Given the description of an element on the screen output the (x, y) to click on. 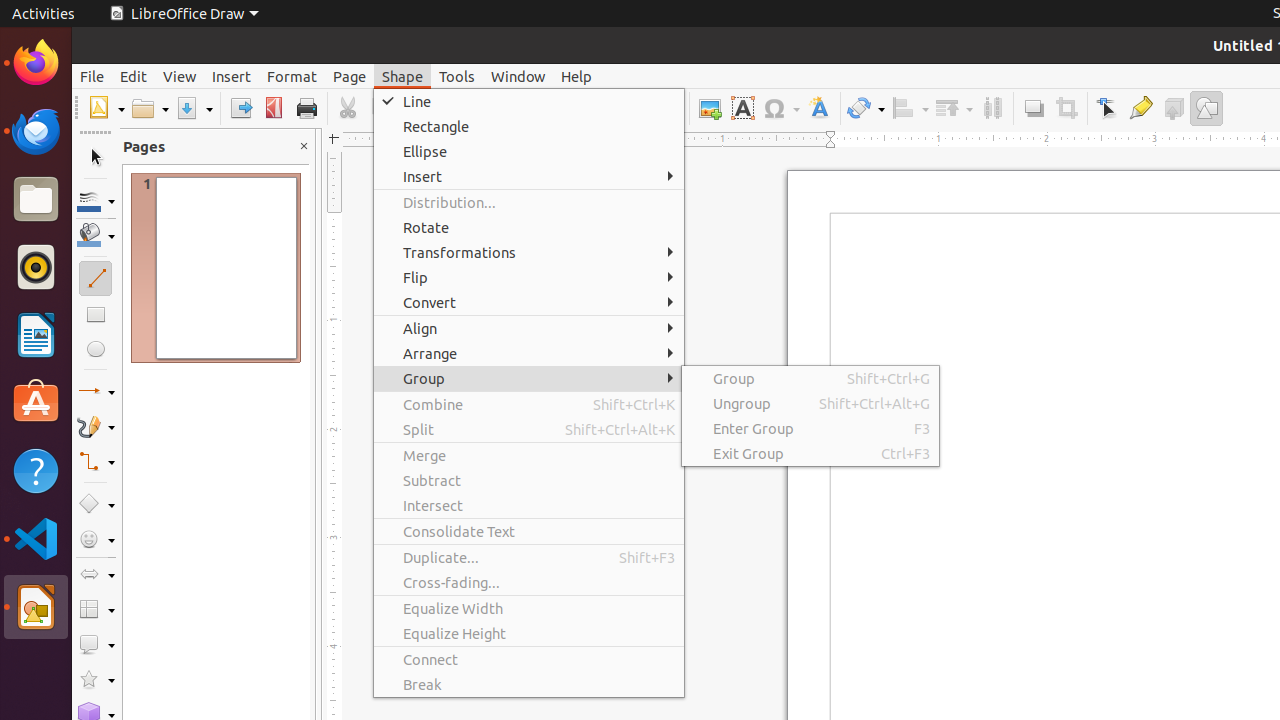
Window Element type: menu (518, 76)
Group Element type: menu-item (810, 378)
Convert Element type: menu (529, 302)
Redo Element type: push-button (556, 108)
Enter Group Element type: menu-item (810, 428)
